Given the description of an element on the screen output the (x, y) to click on. 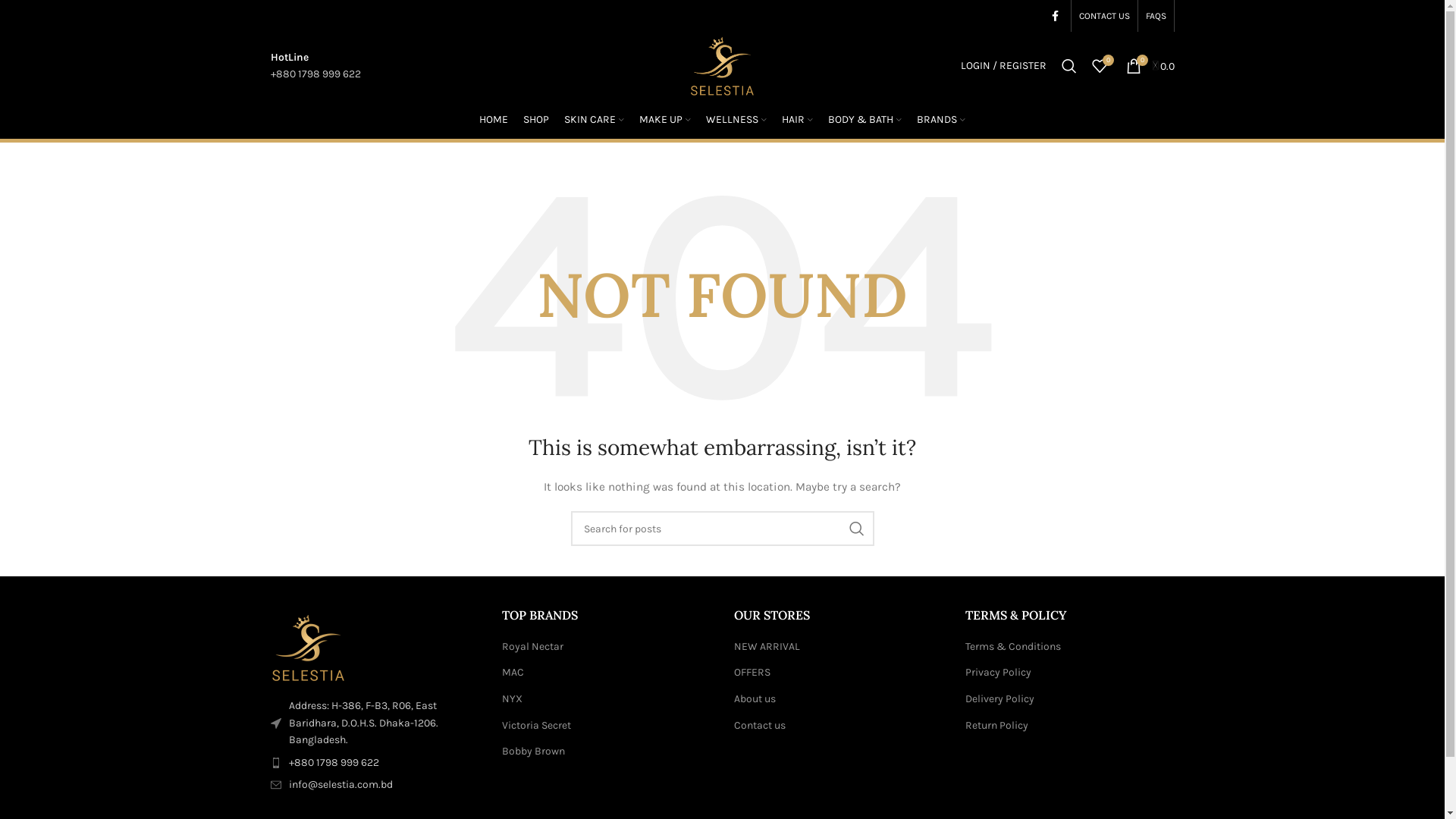
SHOP Element type: text (536, 119)
OFFERS Element type: text (752, 672)
LOGIN / REGISTER Element type: text (1002, 65)
SKIN CARE Element type: text (594, 119)
Victoria Secret Element type: text (537, 725)
HAIR Element type: text (796, 119)
Delivery Policy Element type: text (1000, 698)
FAQS Element type: text (1155, 15)
Terms & Conditions Element type: text (1013, 646)
BRANDS Element type: text (940, 119)
About us Element type: text (755, 698)
WELLNESS Element type: text (736, 119)
MAC Element type: text (513, 672)
0 Element type: text (1099, 65)
Contact us Element type: text (760, 725)
Search for posts Element type: hover (721, 528)
Selestia-logo-footer1 Element type: hover (352, 648)
NYX Element type: text (513, 698)
MAKE UP Element type: text (664, 119)
BODY & BATH Element type: text (864, 119)
NEW ARRIVAL Element type: text (767, 646)
Bobby Brown Element type: text (534, 751)
wd-cursor-dark Element type: hover (274, 723)
wd-envelope-dark Element type: hover (274, 784)
wd-phone-dark Element type: hover (274, 762)
Search Element type: hover (1069, 65)
SEARCH Element type: text (855, 528)
Royal Nectar Element type: text (533, 646)
Privacy Policy Element type: text (998, 672)
Return Policy Element type: text (997, 725)
CONTACT US Element type: text (1103, 15)
HOME Element type: text (493, 119)
